Given the description of an element on the screen output the (x, y) to click on. 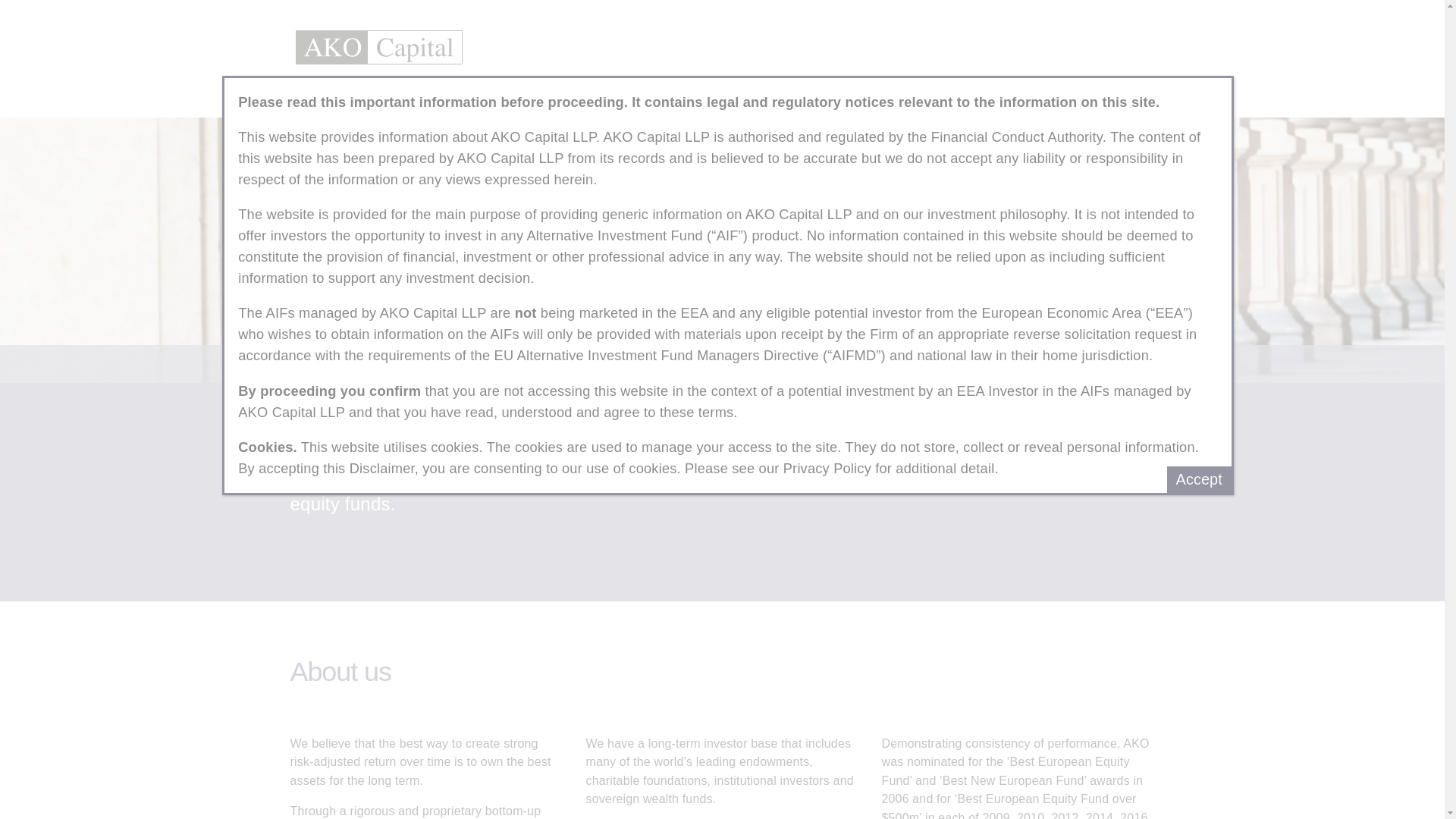
Home (308, 90)
Contact (931, 90)
Log In (1144, 90)
People (541, 90)
Business principles (456, 90)
Careers (871, 90)
About us (366, 90)
Quality Investing (792, 90)
Sustainability (698, 90)
AKO Foundation (1011, 90)
